Given the description of an element on the screen output the (x, y) to click on. 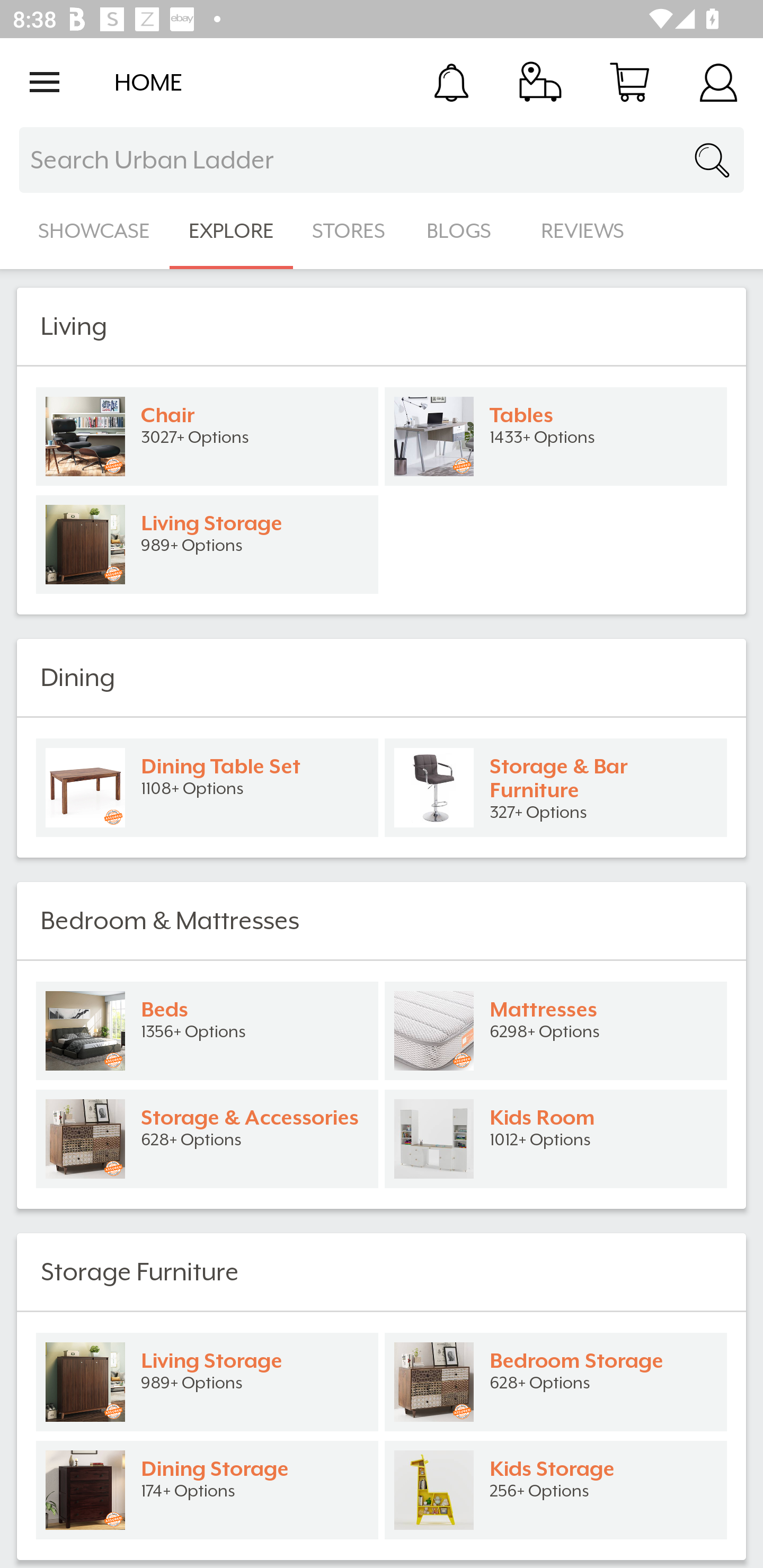
Open navigation drawer (44, 82)
Notification (450, 81)
Track Order (540, 81)
Cart (629, 81)
Account Details (718, 81)
Search Urban Ladder  (381, 159)
SHOWCASE (94, 230)
EXPLORE (230, 230)
STORES (349, 230)
BLOGS (464, 230)
REVIEWS (582, 230)
Chair 3027+ Options (206, 436)
Tables 1433+ Options (555, 436)
Living Storage 989+ Options (206, 544)
Dining Table Set 1108+ Options (206, 787)
Storage & Bar Furniture 327+ Options (555, 787)
Beds 1356+ Options (206, 1030)
Mattresses 6298+ Options (555, 1030)
Storage & Accessories 628+ Options (206, 1139)
Kids Room 1012+ Options (555, 1139)
Living Storage 989+ Options (206, 1382)
Bedroom Storage 628+ Options (555, 1382)
Dining Storage 174+ Options (206, 1490)
Kids Storage 256+ Options (555, 1490)
